Given the description of an element on the screen output the (x, y) to click on. 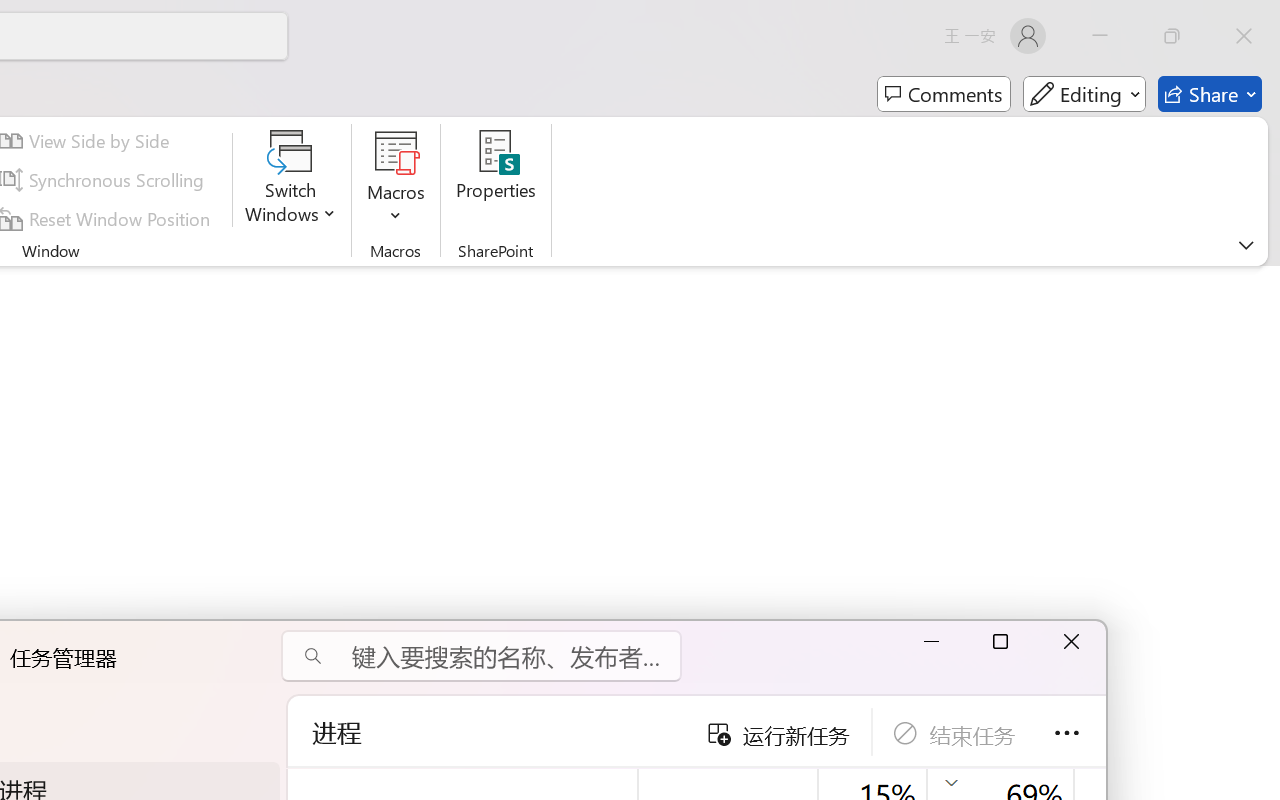
Mode (1083, 94)
Switch Windows (290, 179)
Ribbon Display Options (1246, 245)
Properties (496, 179)
Macros (395, 179)
View Macros (395, 151)
